Given the description of an element on the screen output the (x, y) to click on. 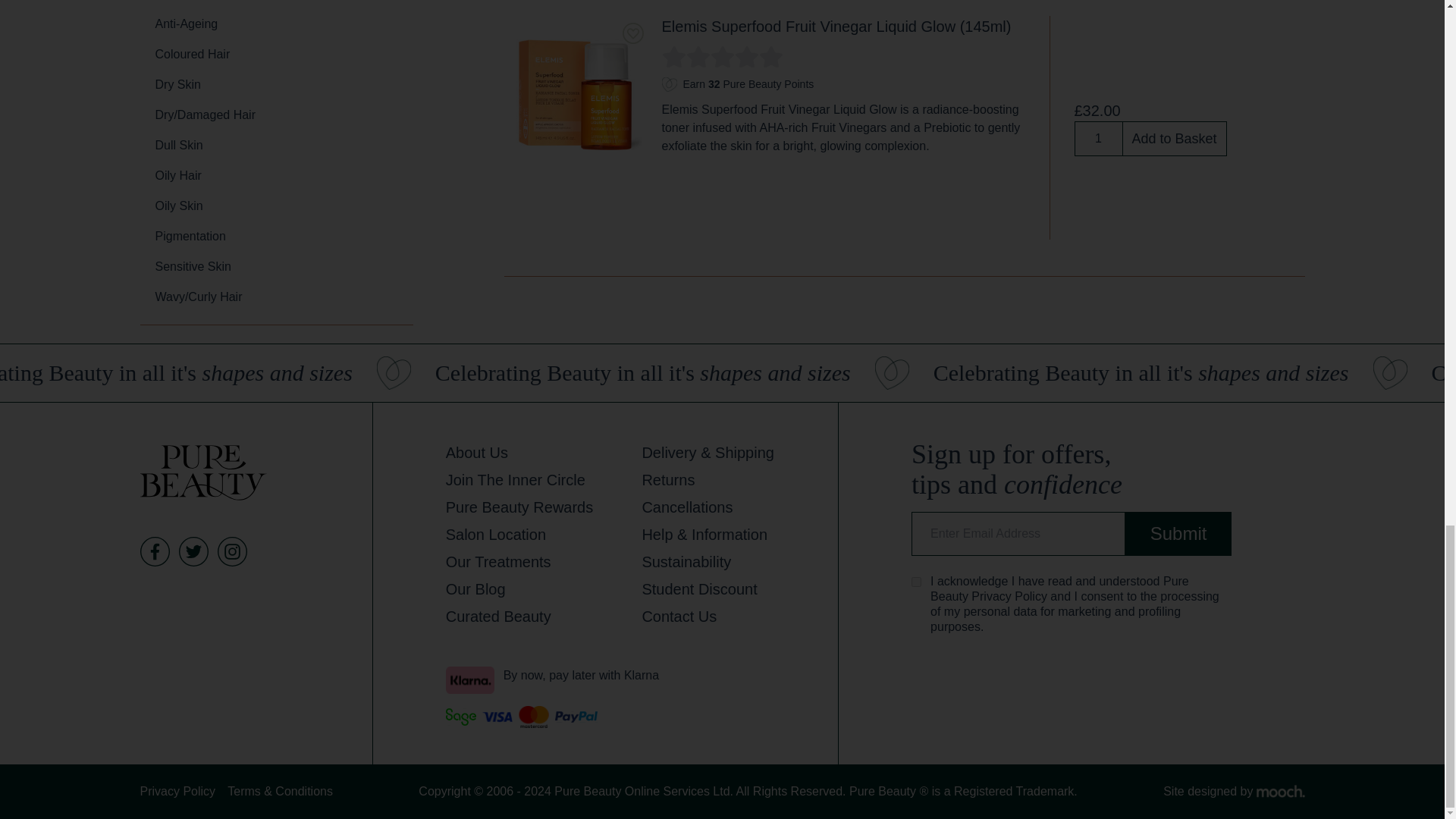
1 (1098, 138)
value (916, 582)
